Given the description of an element on the screen output the (x, y) to click on. 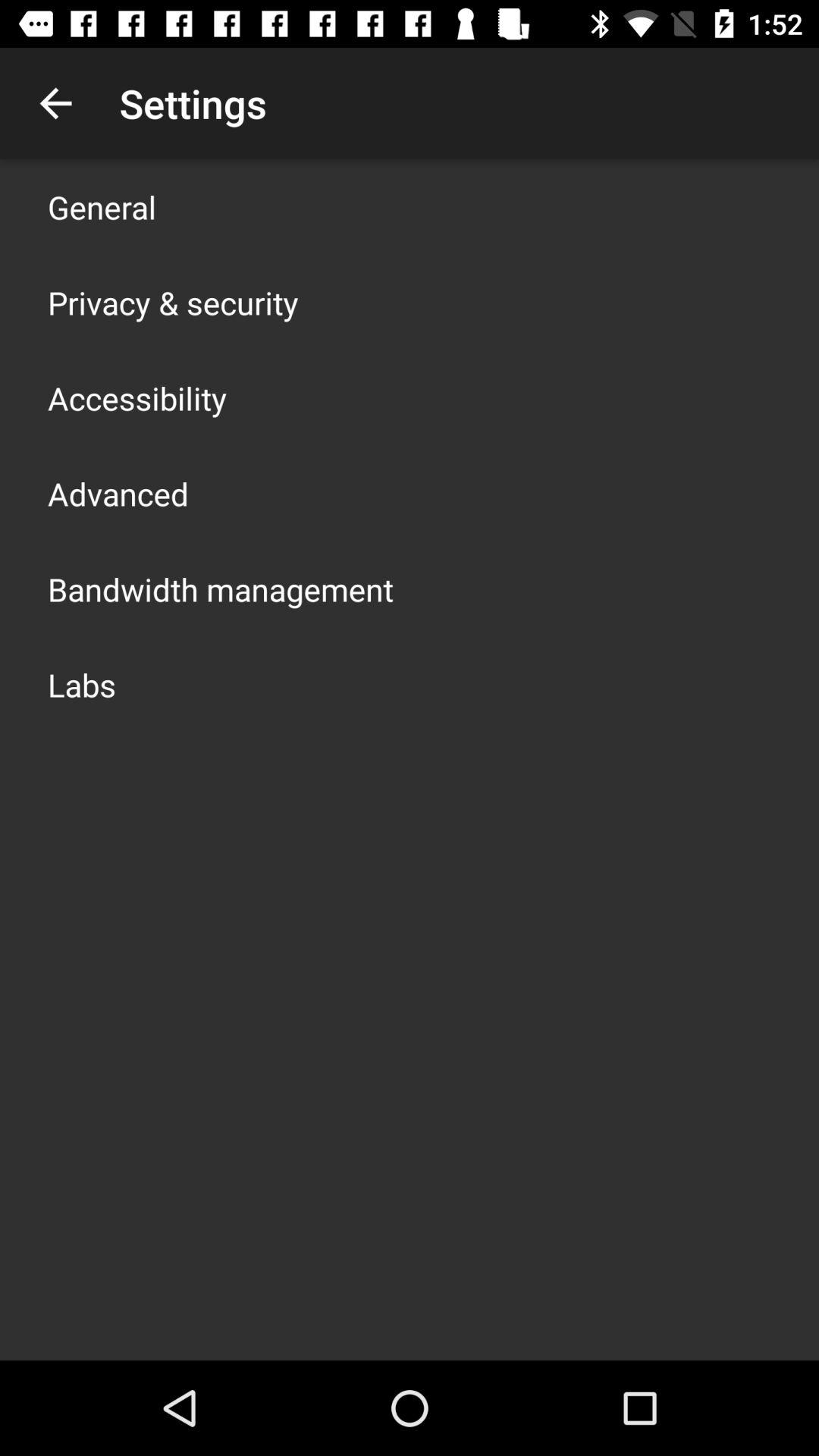
turn off labs item (81, 684)
